Given the description of an element on the screen output the (x, y) to click on. 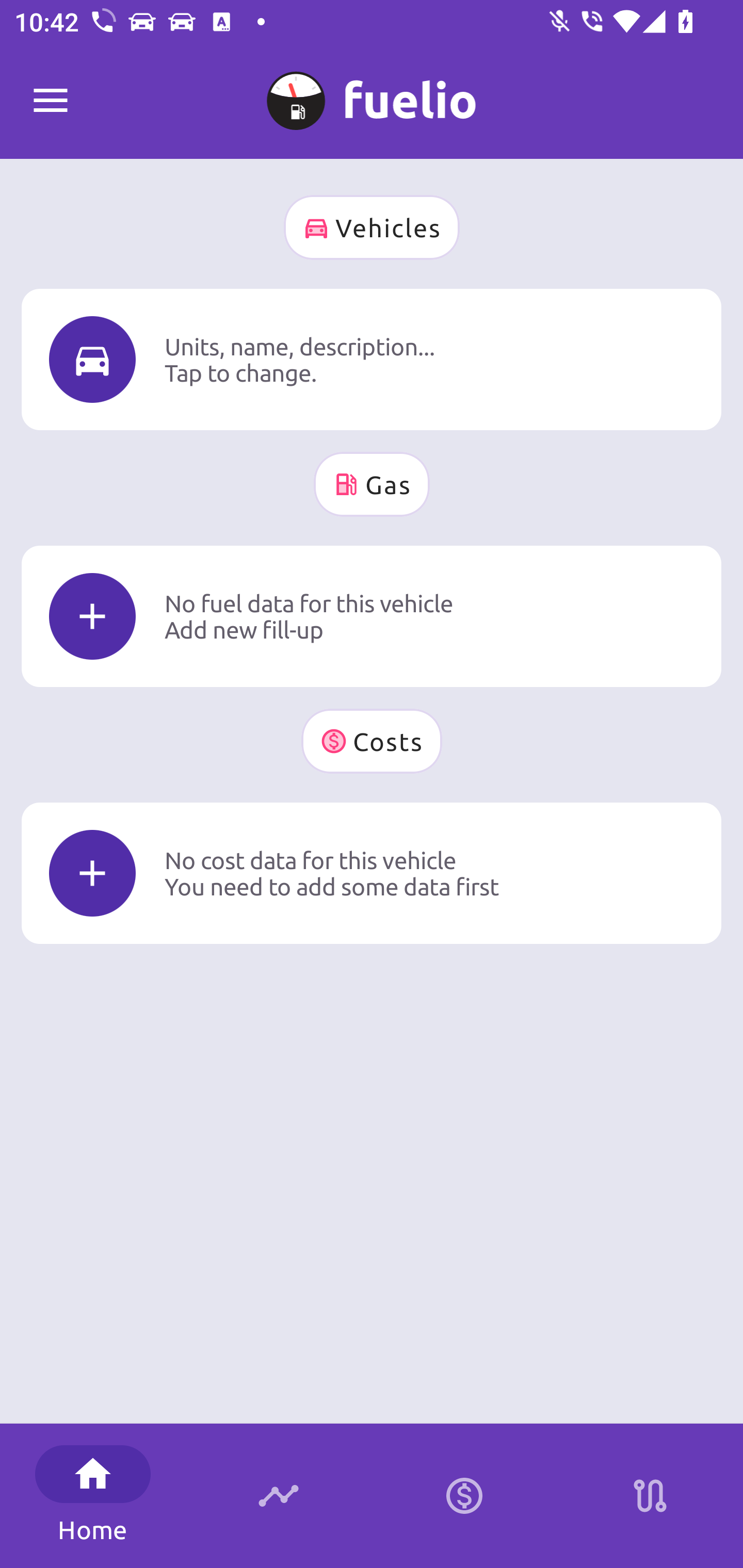
A No name 0 km (371, 92)
Fuelio (50, 101)
Vehicles (371, 227)
Icon Units, name, description...
Tap to change. (371, 358)
Icon (92, 359)
Gas (371, 484)
Icon No fuel data for this vehicle
Add new fill-up (371, 615)
Icon (92, 616)
Costs (371, 740)
Icon (92, 873)
Timeline (278, 1495)
Calculator (464, 1495)
Stations on route (650, 1495)
